Given the description of an element on the screen output the (x, y) to click on. 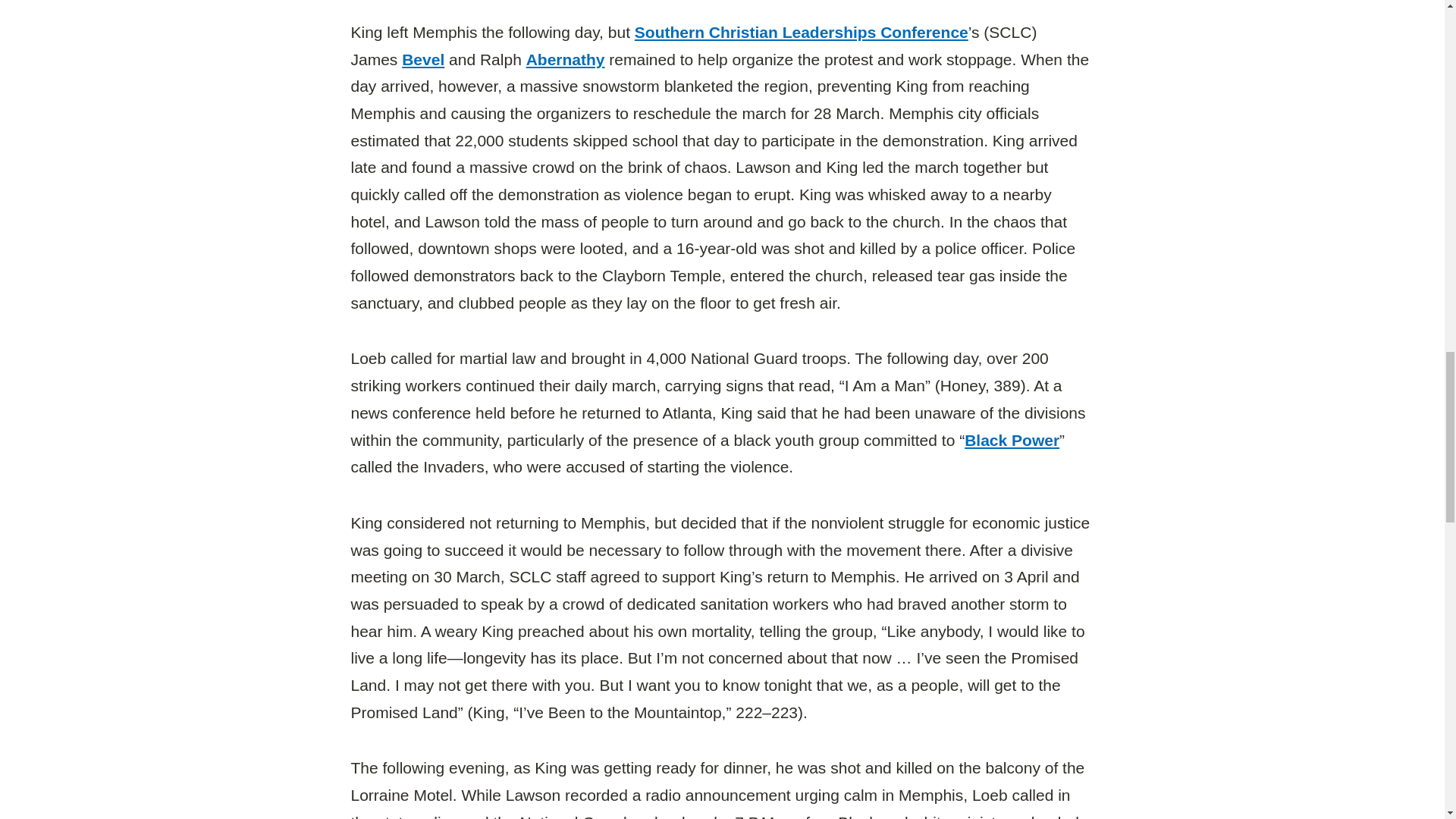
Abernathy, Ralph David (565, 58)
Black Power (1011, 438)
Bevel, James Luther (422, 58)
